Given the description of an element on the screen output the (x, y) to click on. 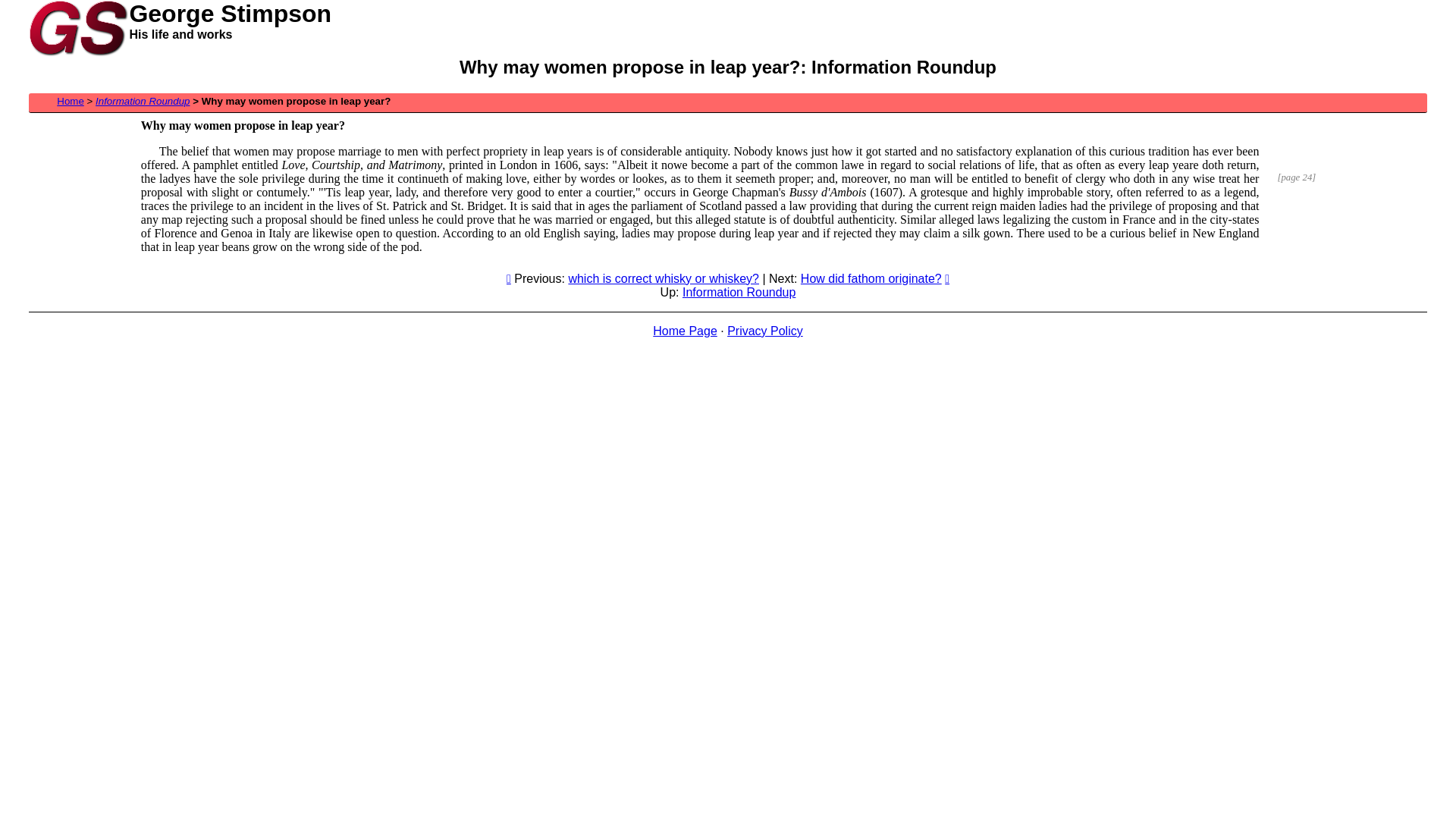
Home Page Element type: text (684, 330)
which is correct whisky or whiskey? Element type: text (663, 278)
Privacy Policy Element type: text (765, 330)
Information Roundup Element type: text (738, 291)
Information Roundup Element type: text (142, 100)
Home Element type: text (70, 100)
How did fathom originate? Element type: text (870, 278)
